Given the description of an element on the screen output the (x, y) to click on. 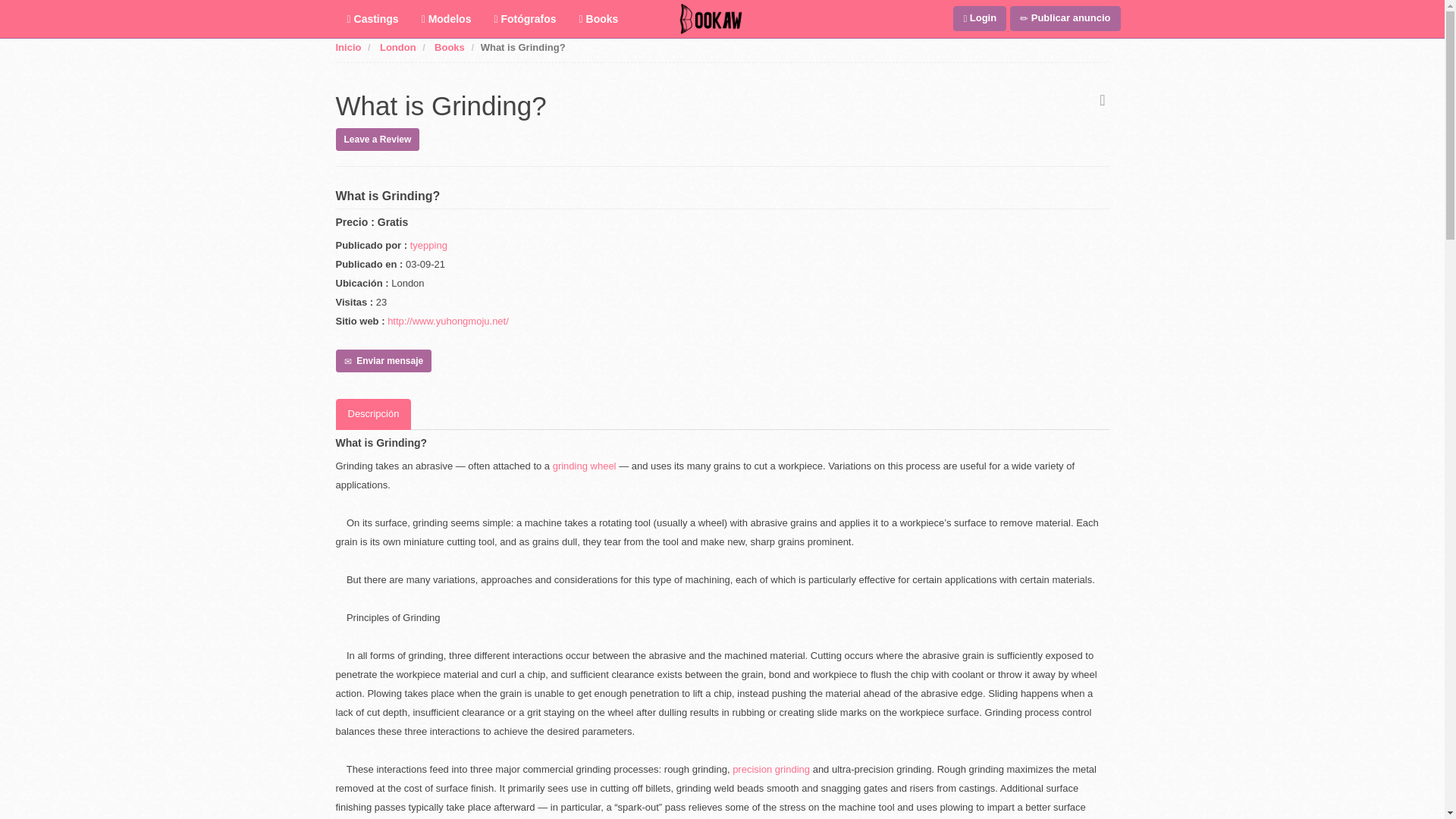
Publicar anuncio (1064, 18)
grinding wheel (585, 465)
Inicio (347, 47)
Leave a Review (376, 138)
Books (598, 18)
tyepping (428, 244)
Login (979, 18)
Modelos (446, 18)
  Enviar mensaje (382, 360)
precision grinding (770, 768)
